Given the description of an element on the screen output the (x, y) to click on. 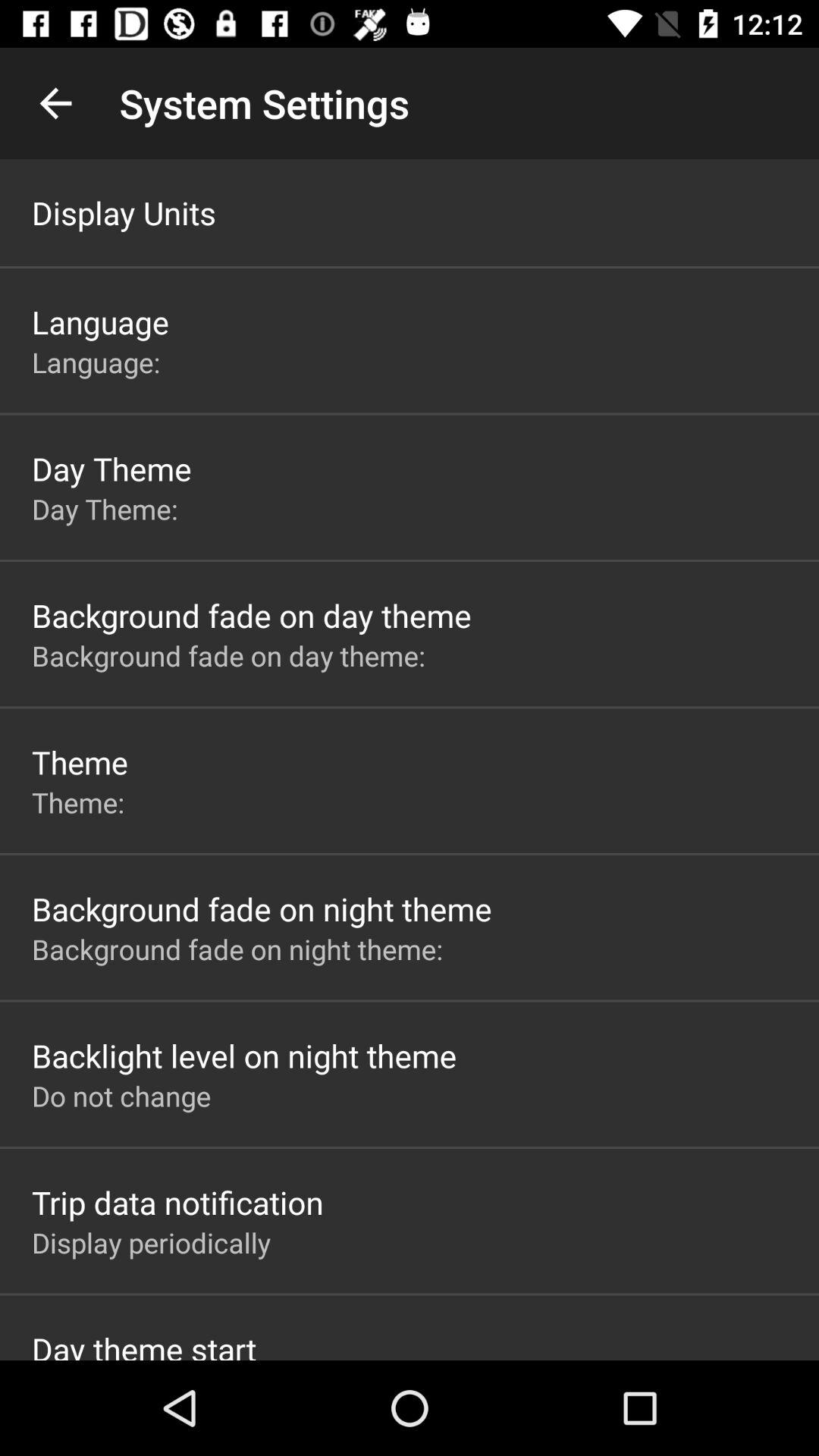
tap item above the trip data notification icon (121, 1095)
